Given the description of an element on the screen output the (x, y) to click on. 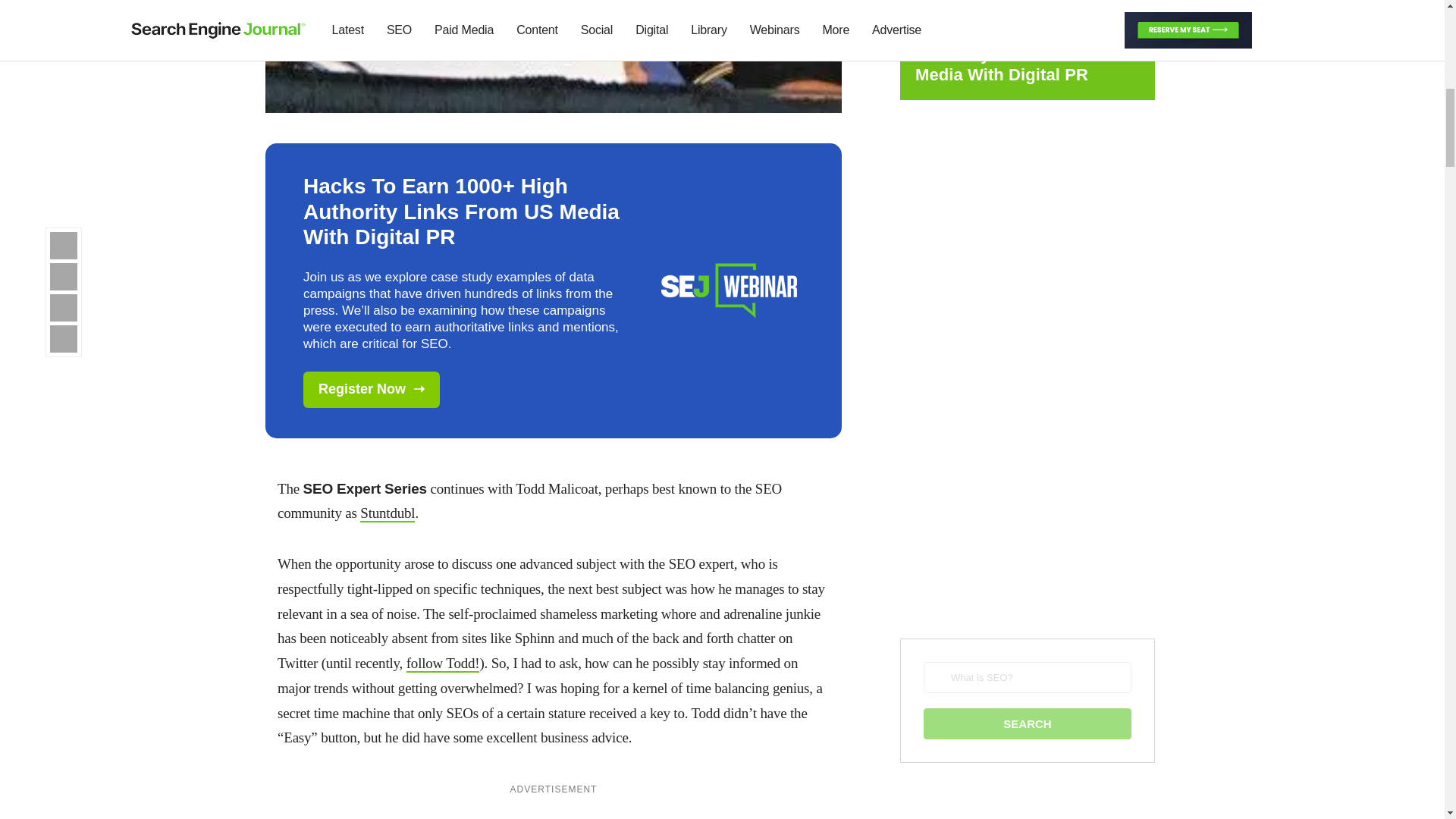
Internet Business Consulting by Todd Malicoat (386, 513)
SEARCH (1027, 723)
SEARCH (1027, 723)
